Given the description of an element on the screen output the (x, y) to click on. 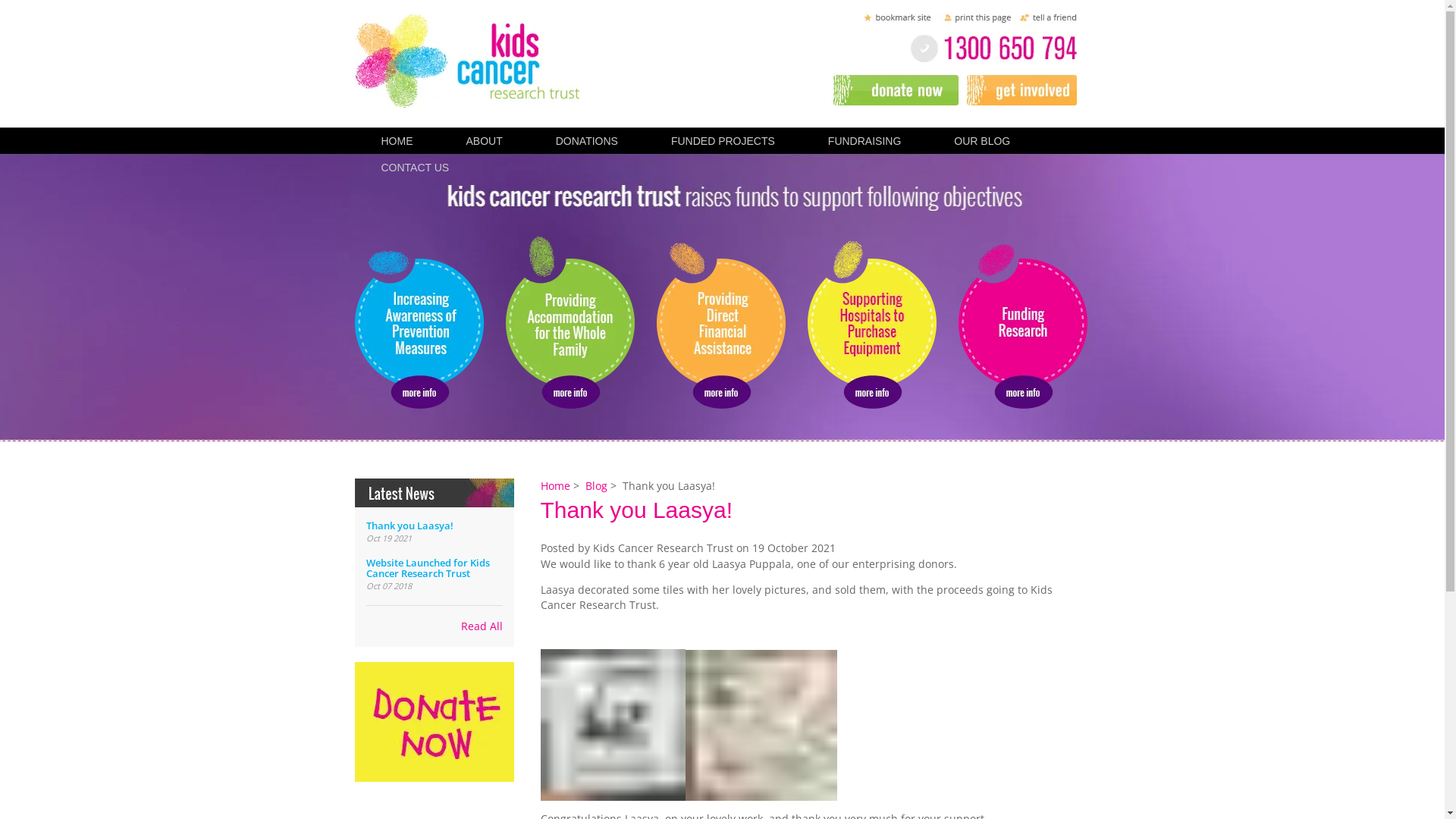
Read All Element type: text (433, 618)
CONTACT US Element type: text (415, 166)
HOME Element type: text (396, 140)
FUNDED PROJECTS Element type: text (722, 140)
Website Launched for Kids Cancer Research Trust Element type: text (427, 567)
Home Element type: text (554, 485)
DONATIONS Element type: text (586, 140)
FUNDRAISING Element type: text (864, 140)
Blog Element type: text (596, 485)
ABOUT Element type: text (484, 140)
Thank you Laasya! Element type: hover (539, 555)
OUR BLOG Element type: text (981, 140)
Thank you Laasya! Element type: text (408, 525)
